Given the description of an element on the screen output the (x, y) to click on. 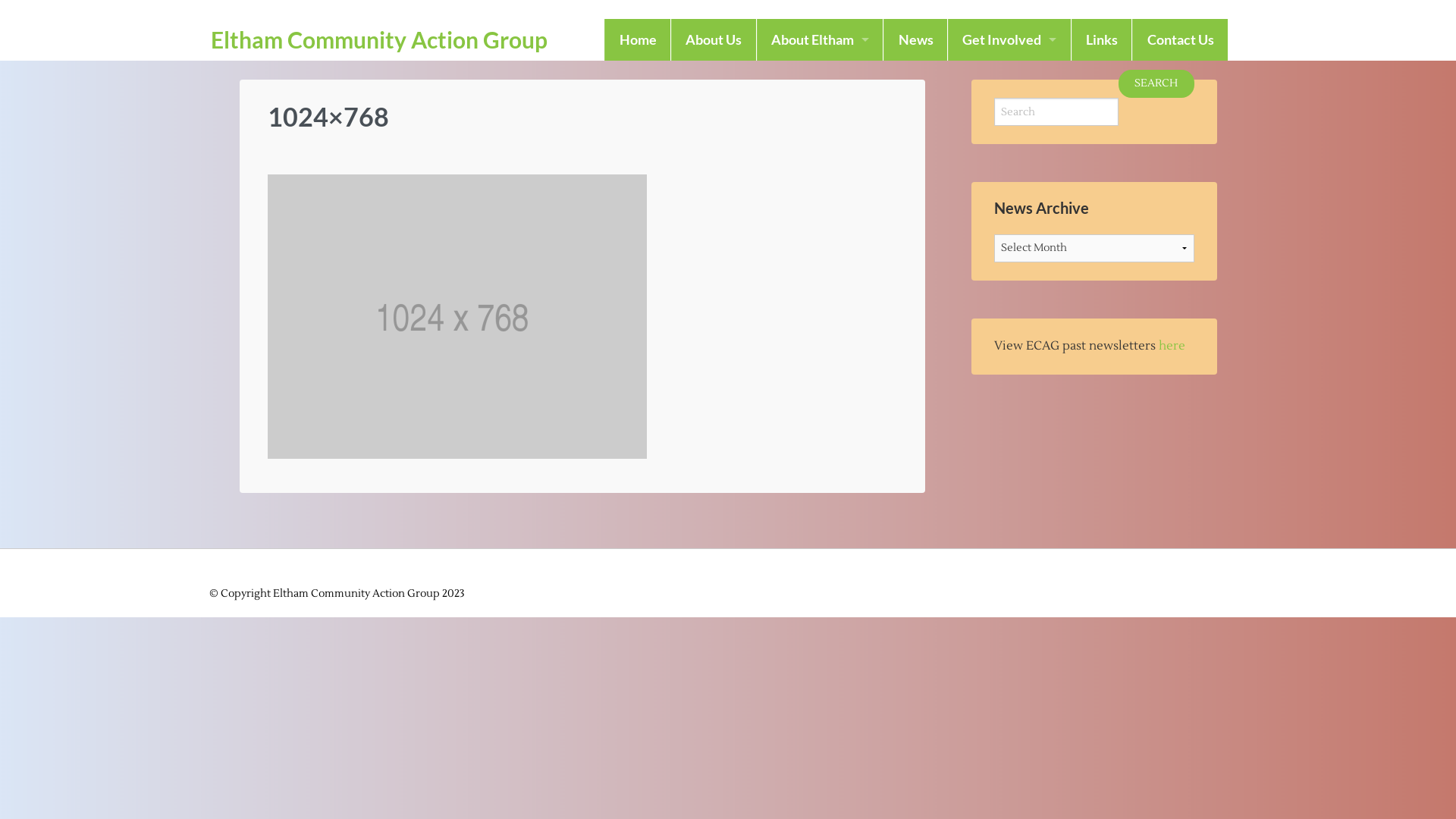
Search Element type: text (1155, 83)
here Element type: text (1171, 345)
Trees and vegetation Element type: text (1009, 81)
About Eltham Element type: text (820, 39)
Support Us By Becoming a Member or Making a Donation Element type: text (1009, 164)
Contact Us Element type: text (1179, 39)
How to Object to a Planning Permit Application Element type: text (1009, 123)
Home Element type: text (637, 39)
Spirit of Eltham: place and community Element type: text (820, 81)
Get Involved Element type: text (1009, 39)
About Us Element type: text (713, 39)
News Element type: text (915, 39)
Eltham Community Action Group Element type: text (378, 39)
Links Element type: text (1102, 39)
